Given the description of an element on the screen output the (x, y) to click on. 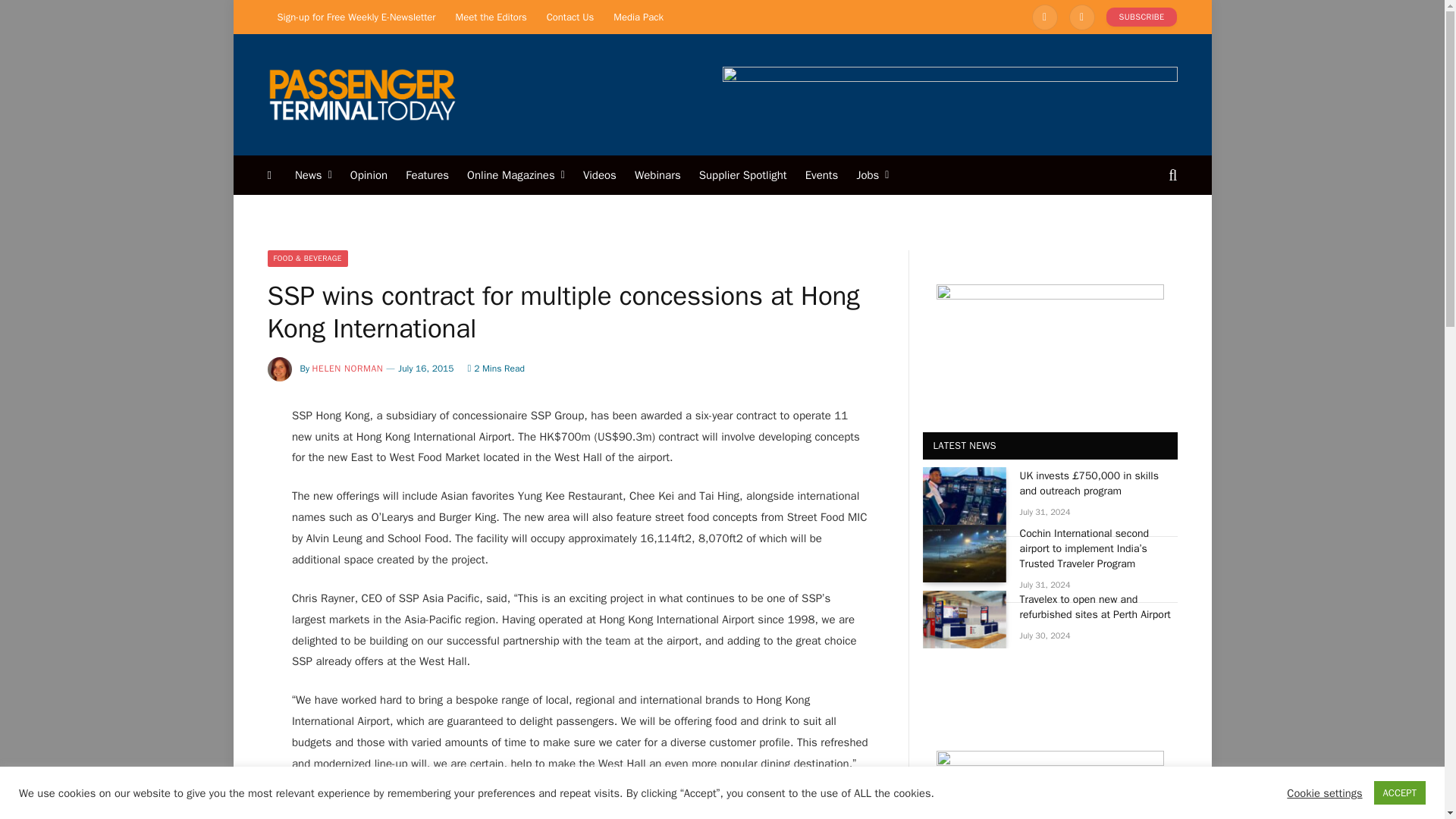
Passenger Terminal Today (361, 93)
Posts by Helen Norman (348, 368)
